Given the description of an element on the screen output the (x, y) to click on. 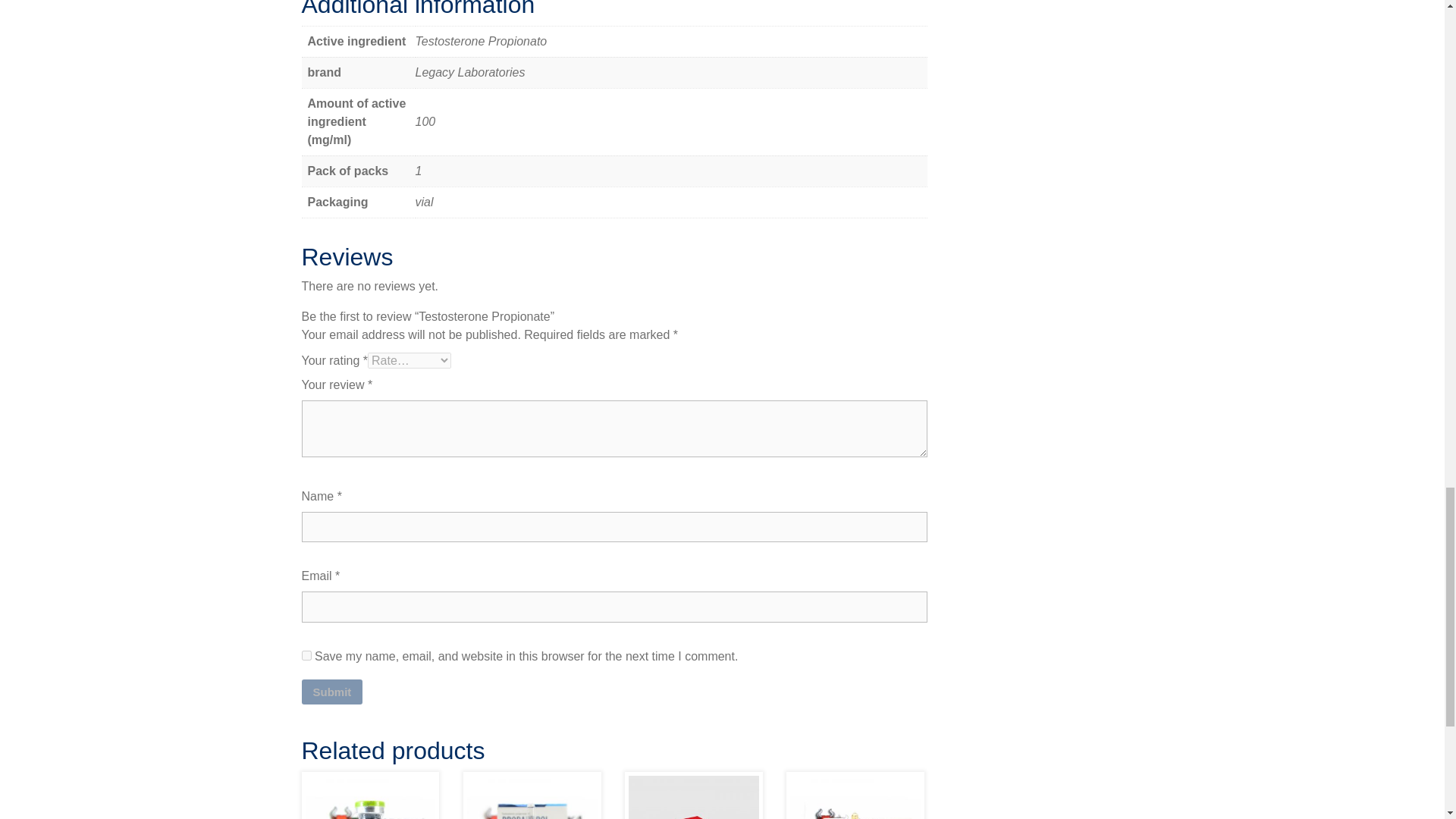
Submit (331, 692)
yes (306, 655)
Submit (331, 692)
